Given the description of an element on the screen output the (x, y) to click on. 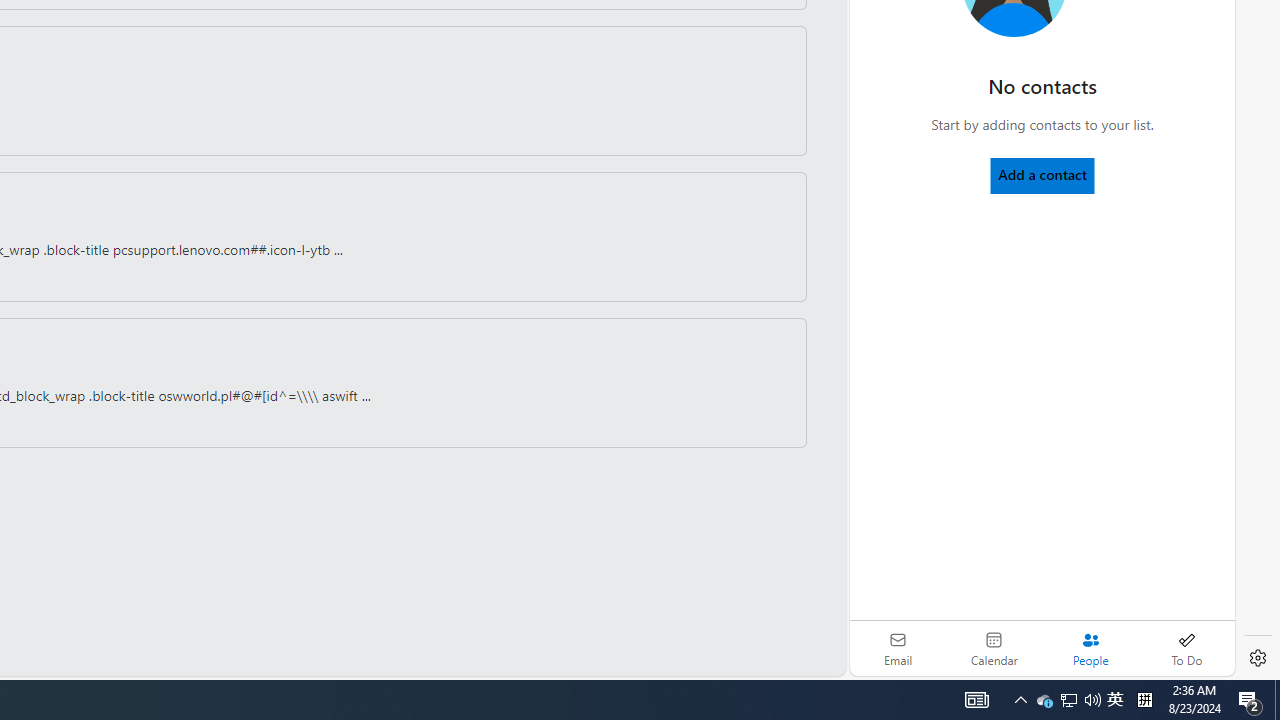
Email (898, 648)
Calendar. Date today is 22 (994, 648)
Add a contact (1041, 174)
Selected people module (1090, 648)
To Do (1186, 648)
